Given the description of an element on the screen output the (x, y) to click on. 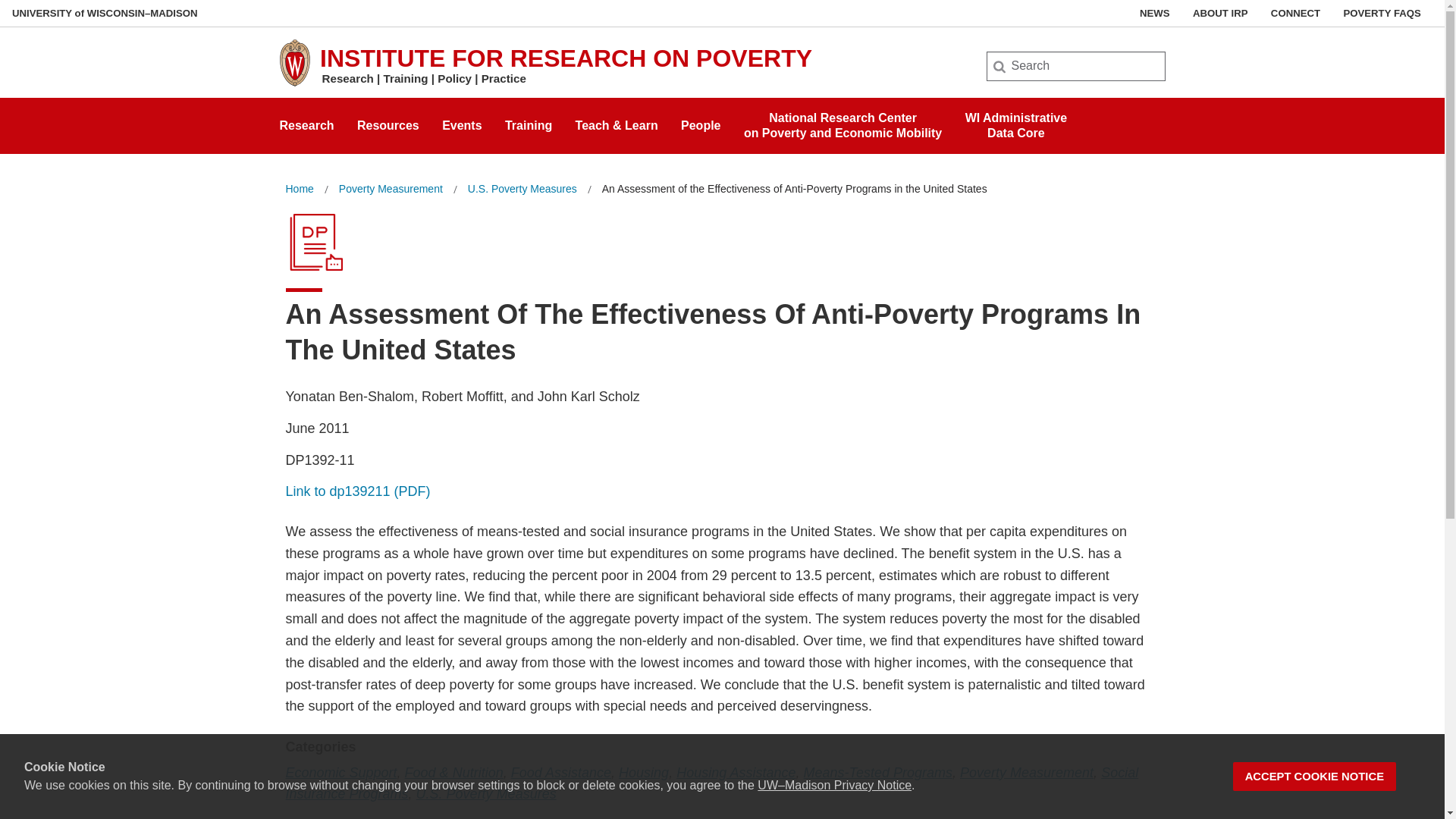
Poverty Measurement (1026, 772)
Housing Assistance (735, 772)
Housing (1016, 120)
Poverty Measurement (643, 772)
Research (390, 188)
Search (306, 120)
Events (37, 16)
Skip to main content (461, 120)
CONNECT (3, 3)
Training (1295, 13)
Means-Tested Programs (528, 120)
ABOUT IRP (877, 772)
Food Assistance (1219, 13)
